Given the description of an element on the screen output the (x, y) to click on. 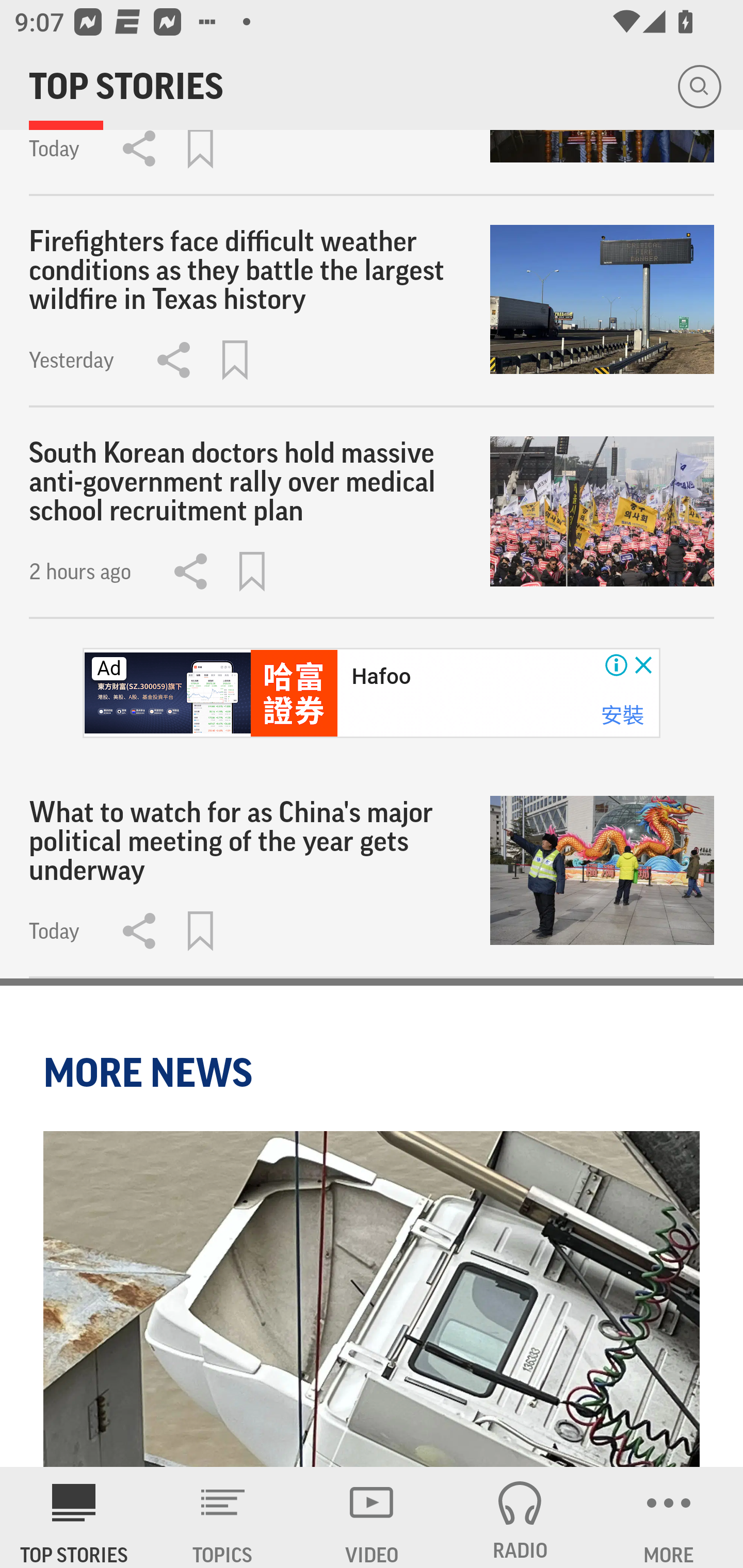
Hafoo (381, 676)
安裝 (621, 715)
MORE NEWS (151, 1072)
AP News TOP STORIES (74, 1517)
TOPICS (222, 1517)
VIDEO (371, 1517)
RADIO (519, 1517)
MORE (668, 1517)
